Given the description of an element on the screen output the (x, y) to click on. 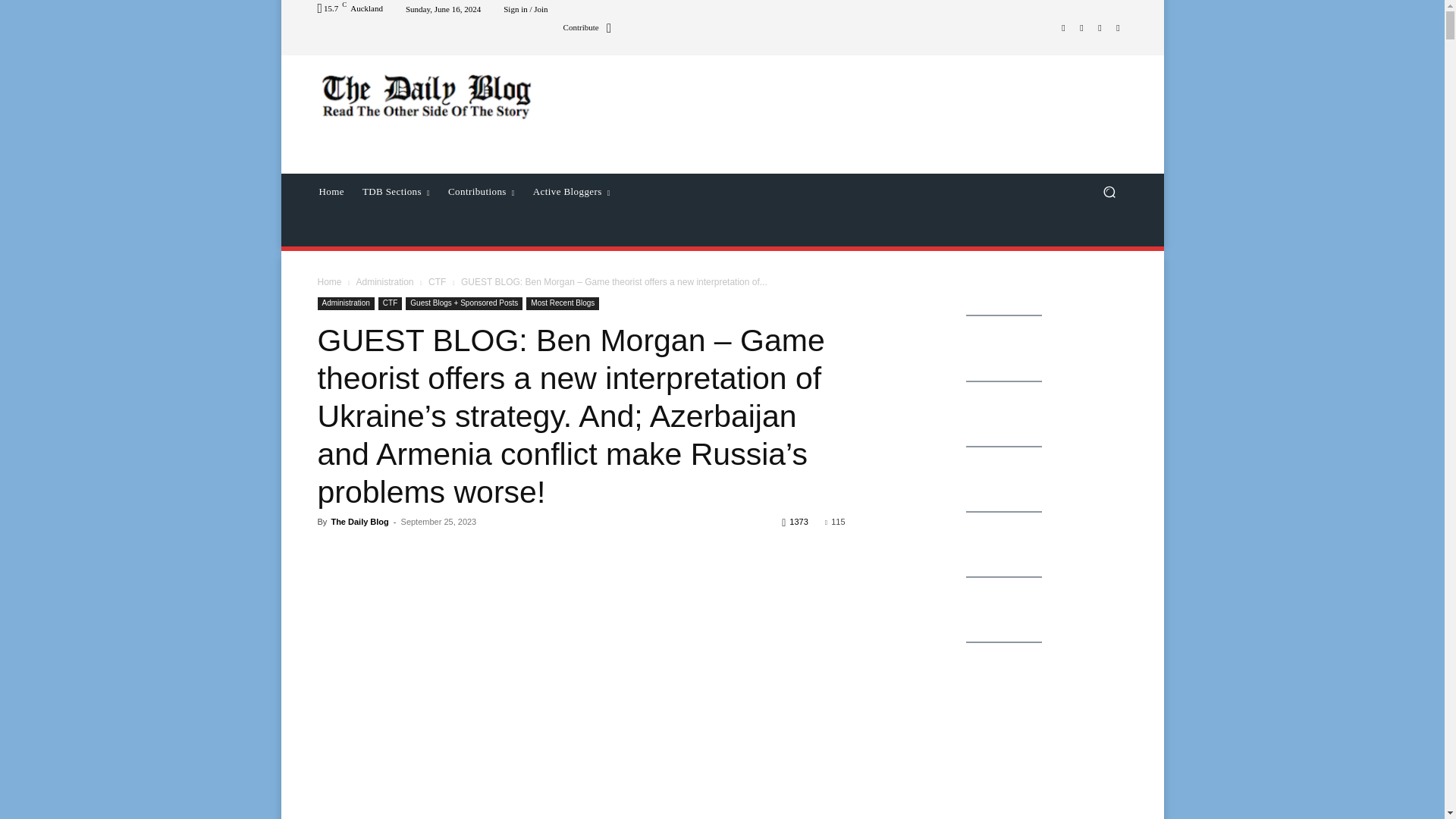
View all posts in Administration (384, 281)
Twitter (1099, 27)
Facebook (1062, 27)
View all posts in CTF (436, 281)
Youtube (1117, 27)
Instagram (1080, 27)
Contributions (481, 191)
Active Bloggers (572, 191)
TDB Sections (396, 191)
Home (330, 191)
